Given the description of an element on the screen output the (x, y) to click on. 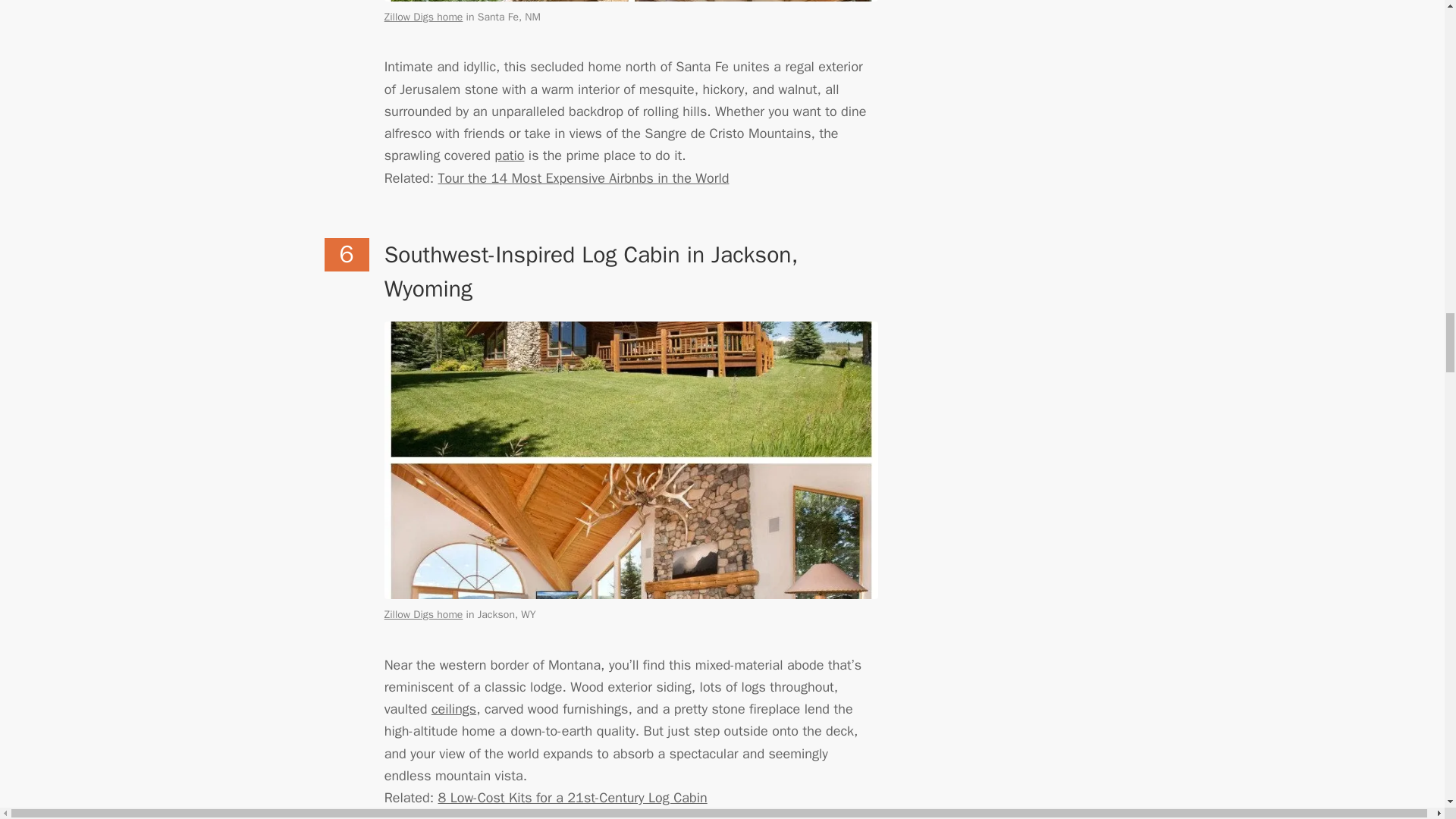
7 Low-Cost Kits for a 21st-Century Log Cabin (572, 797)
15 Basement Ceiling Ideas to Inspire Your Space (453, 709)
